Given the description of an element on the screen output the (x, y) to click on. 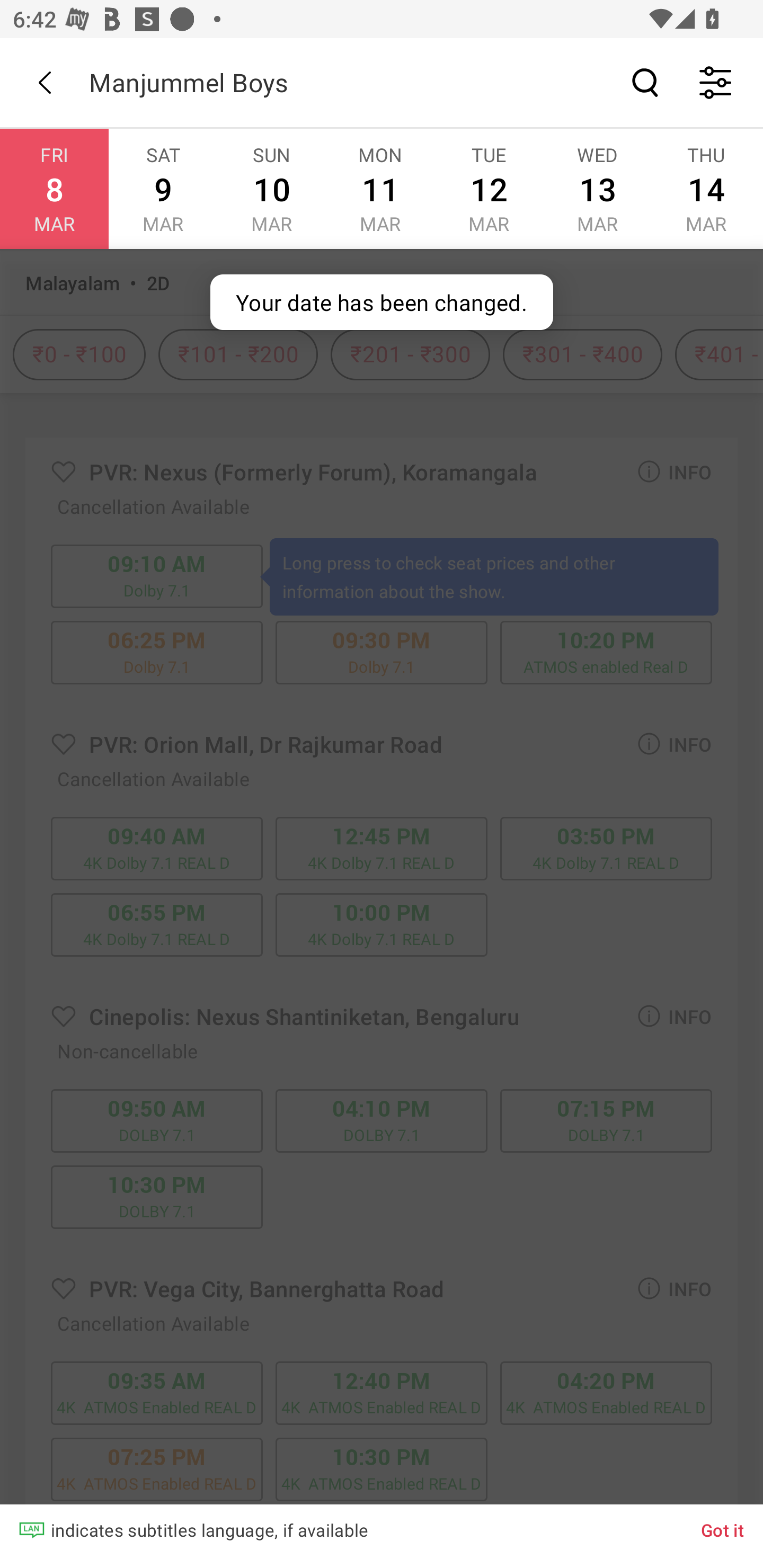
Back Manjummel Boys (381, 82)
Back (44, 82)
SAT 9 MAR (162, 188)
SUN 10 MAR (271, 188)
MON 11 MAR (379, 188)
TUE 12 MAR (488, 188)
WED 13 MAR (597, 188)
THU 14 MAR (705, 188)
Your date has been changed. (381, 301)
Got it (722, 1529)
